Given the description of an element on the screen output the (x, y) to click on. 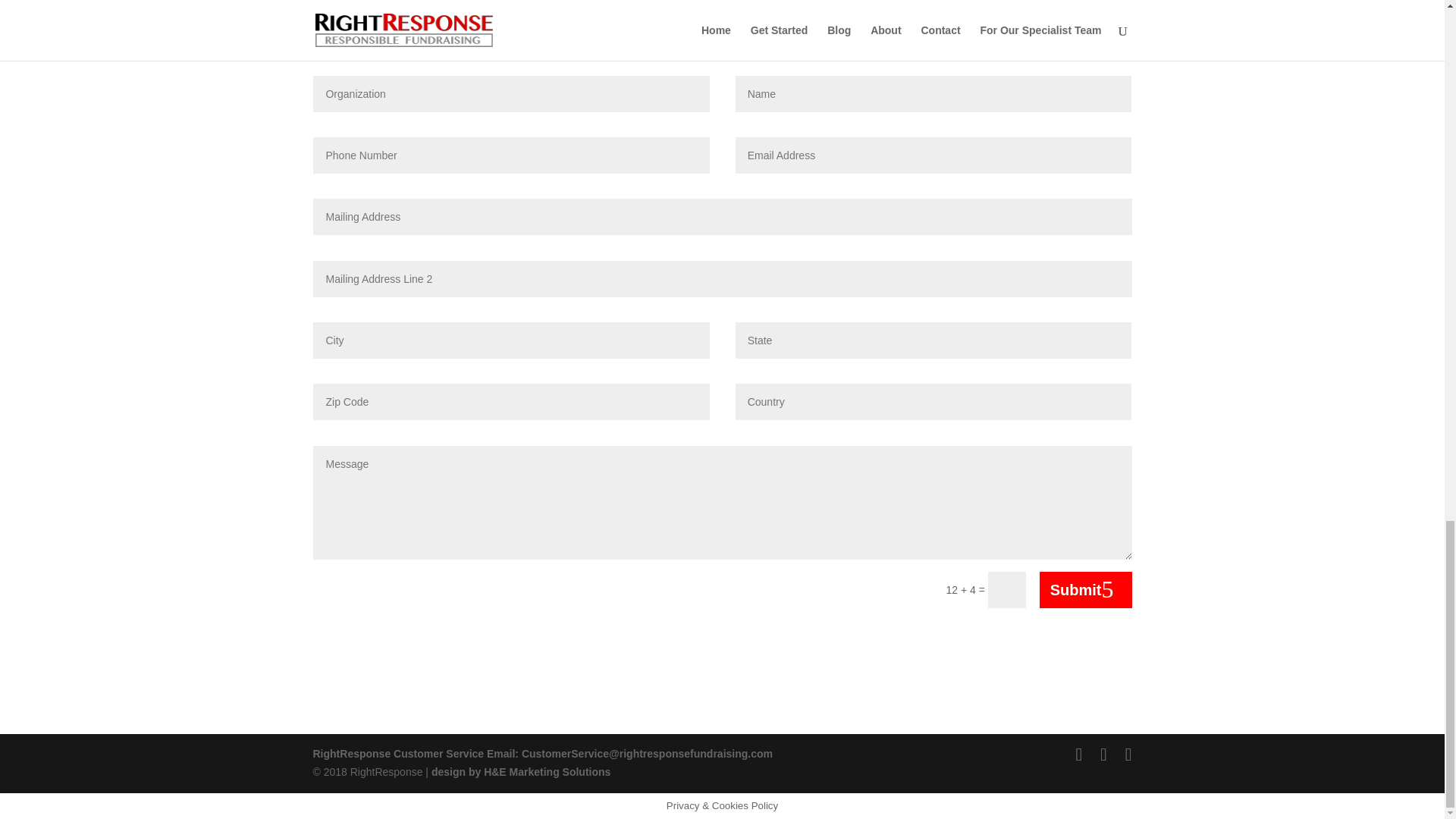
Submit (1085, 589)
